Given the description of an element on the screen output the (x, y) to click on. 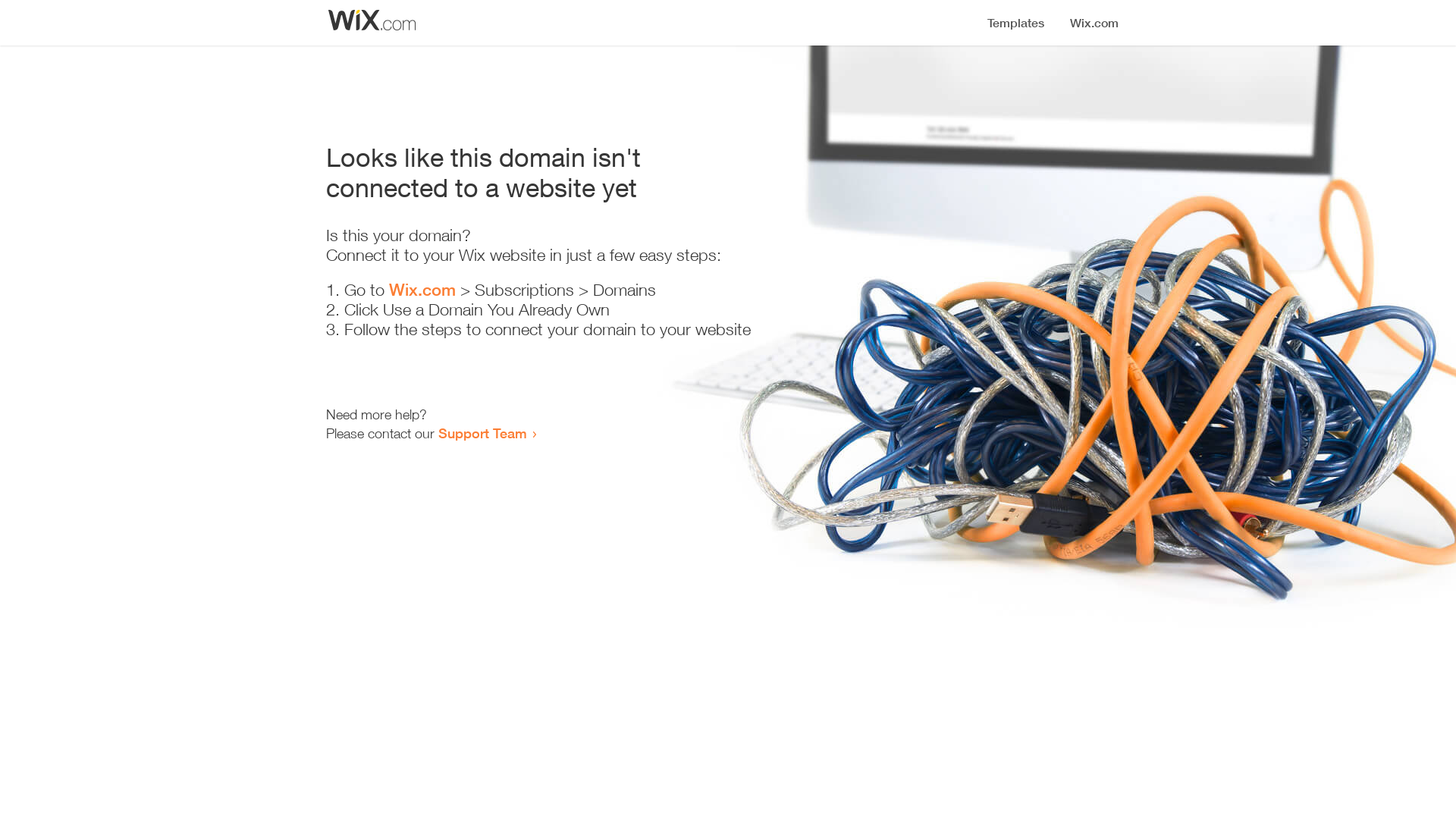
Support Team Element type: text (482, 432)
Wix.com Element type: text (422, 289)
